Given the description of an element on the screen output the (x, y) to click on. 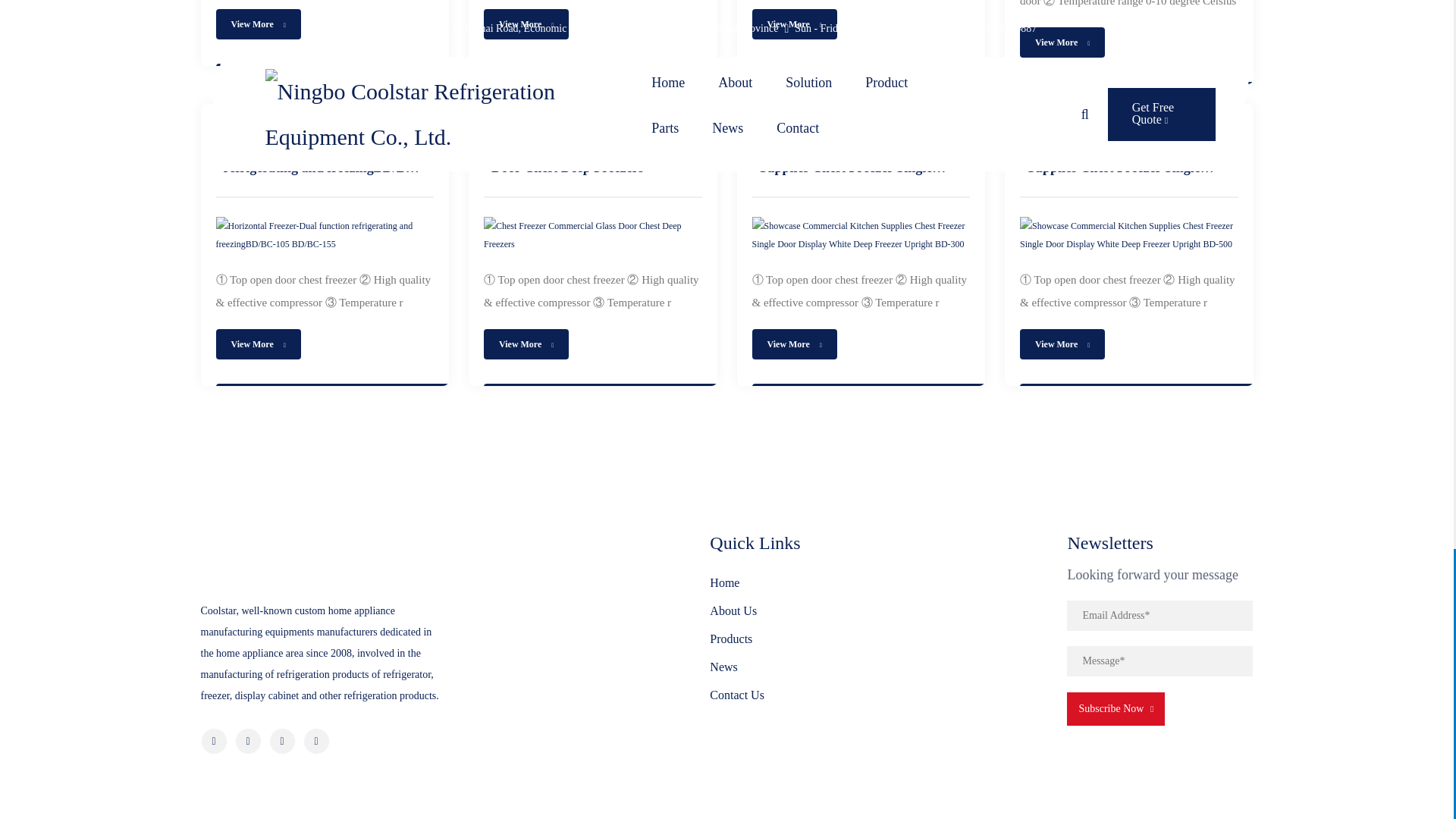
Chest Freezer Commercial Glass Door Chest Deep Freezers (592, 235)
